Given the description of an element on the screen output the (x, y) to click on. 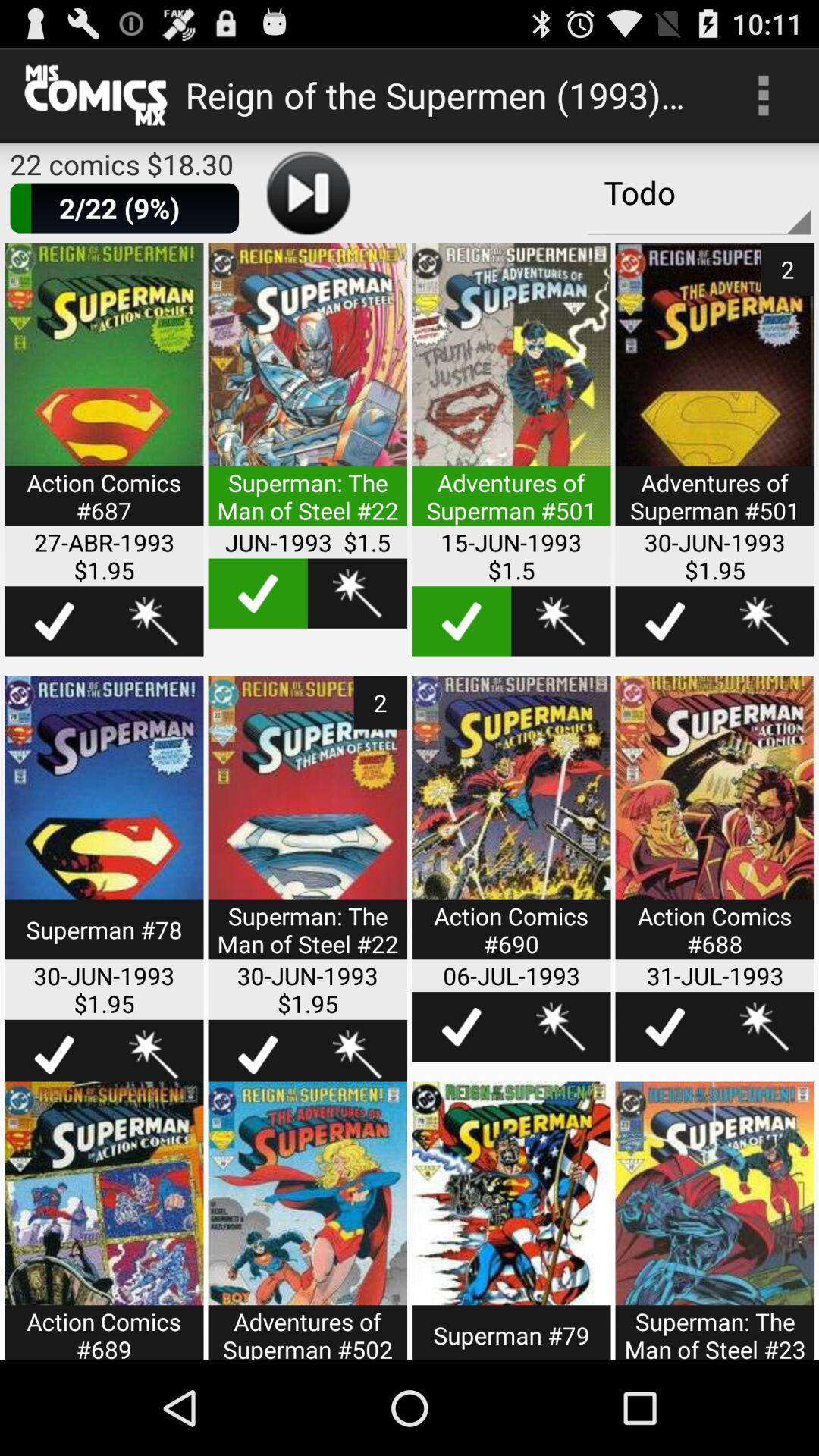
click action comics 690 icon (510, 827)
